Given the description of an element on the screen output the (x, y) to click on. 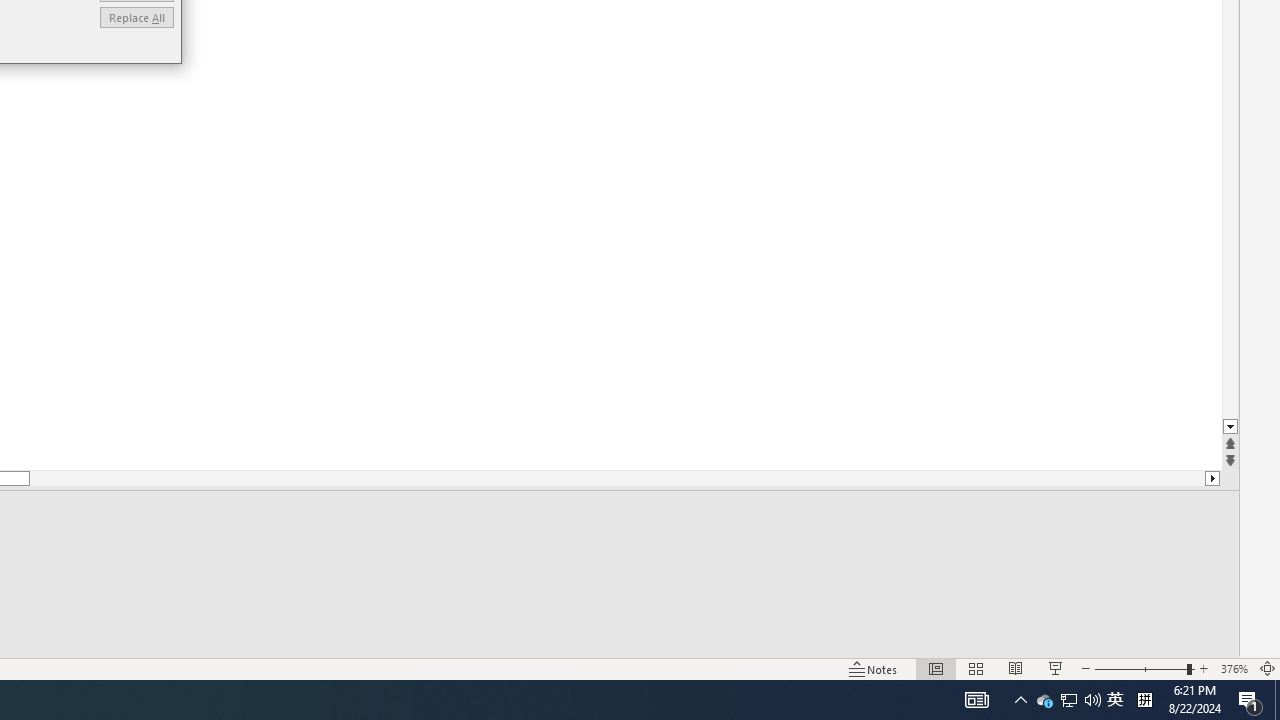
Zoom 376% (1234, 668)
